Given the description of an element on the screen output the (x, y) to click on. 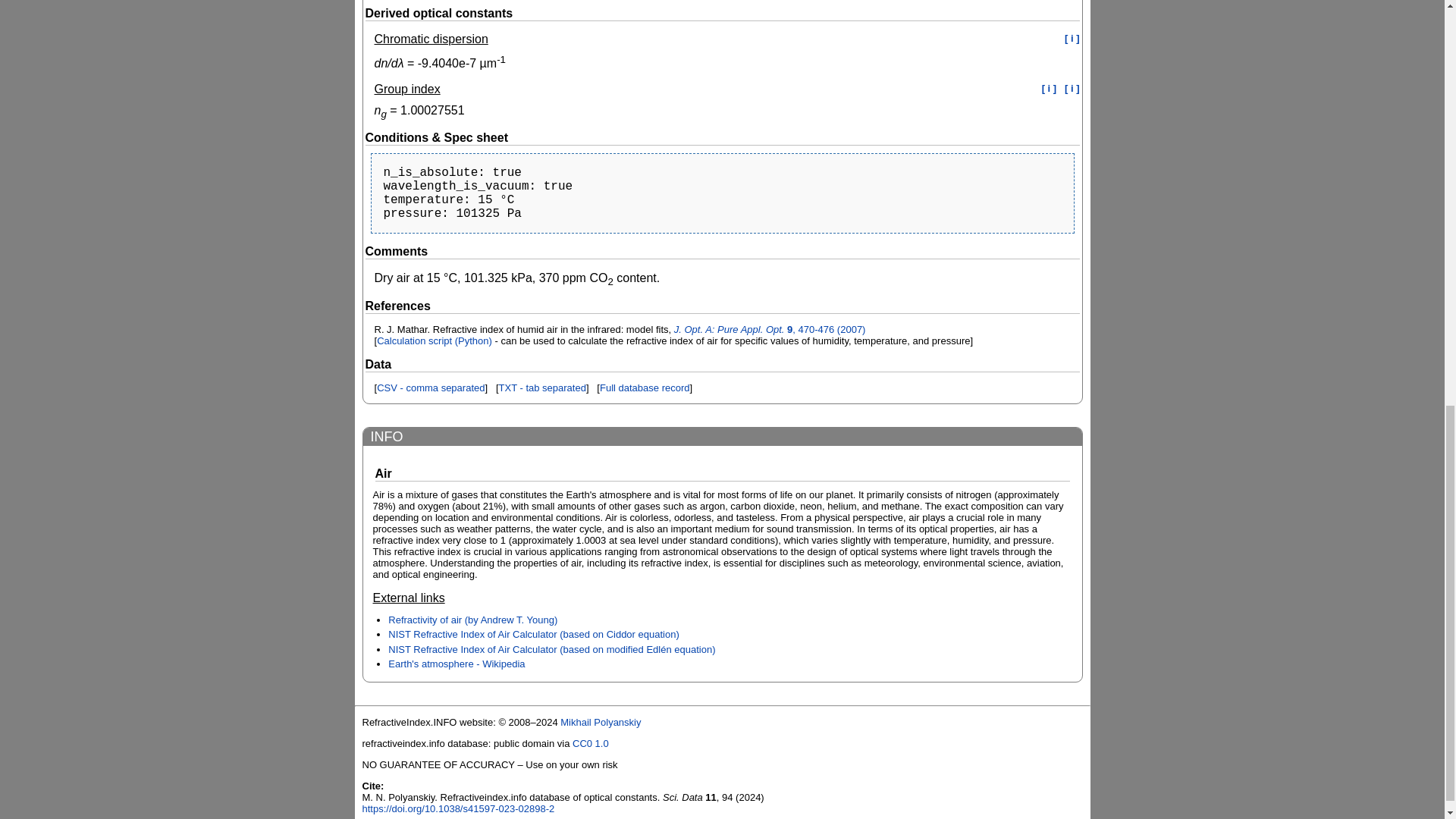
CC0 1.0 (590, 743)
TXT - tab separated (542, 387)
Earth's atmosphere - Wikipedia (456, 663)
Mikhail Polyanskiy (600, 722)
CSV - comma separated (430, 387)
Full database record (644, 387)
